Given the description of an element on the screen output the (x, y) to click on. 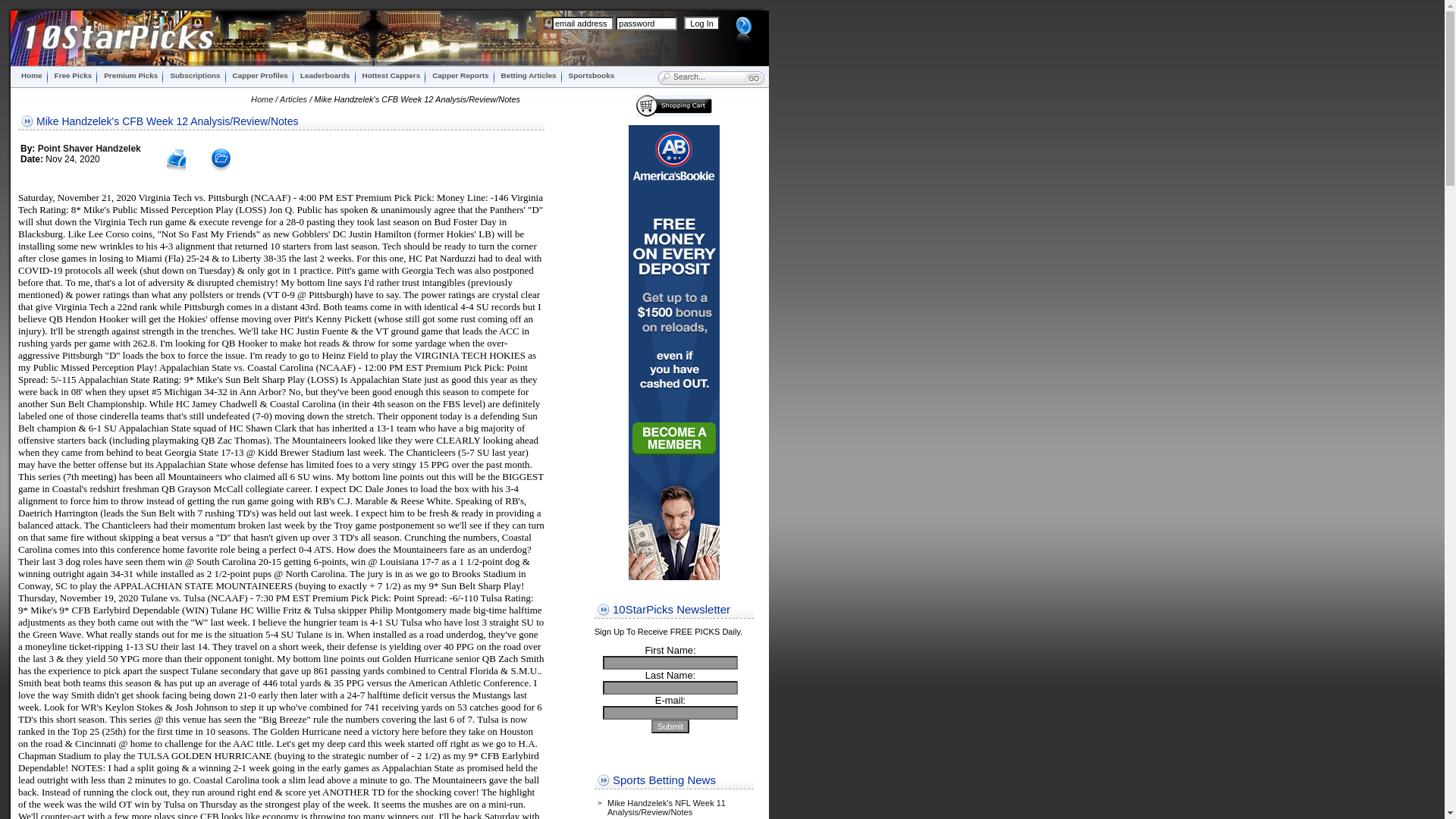
Home Element type: text (262, 98)
Free Picks Element type: text (73, 75)
Betting Articles Element type: text (528, 75)
Capper Reports Element type: text (459, 75)
Search... Element type: text (700, 76)
Premium Picks Element type: text (130, 75)
Mike Handzelek's NFL Week 11 Analysis/Review/Notes Element type: text (666, 807)
Capper Profiles Element type: text (260, 75)
Home Element type: text (31, 75)
Hottest Cappers Element type: text (391, 75)
  Element type: text (758, 82)
Add This Article to Favorites Element type: hover (220, 171)
email address Element type: text (582, 23)
Point Shaver Handzelek Element type: text (89, 148)
Sportsbooks Element type: text (591, 75)
Articles Element type: text (293, 98)
password Element type: text (646, 23)
Log In Element type: text (701, 23)
Subscriptions Element type: text (194, 75)
Leaderboards Element type: text (324, 75)
Submit Element type: text (670, 726)
Print This Article Element type: hover (176, 172)
